Given the description of an element on the screen output the (x, y) to click on. 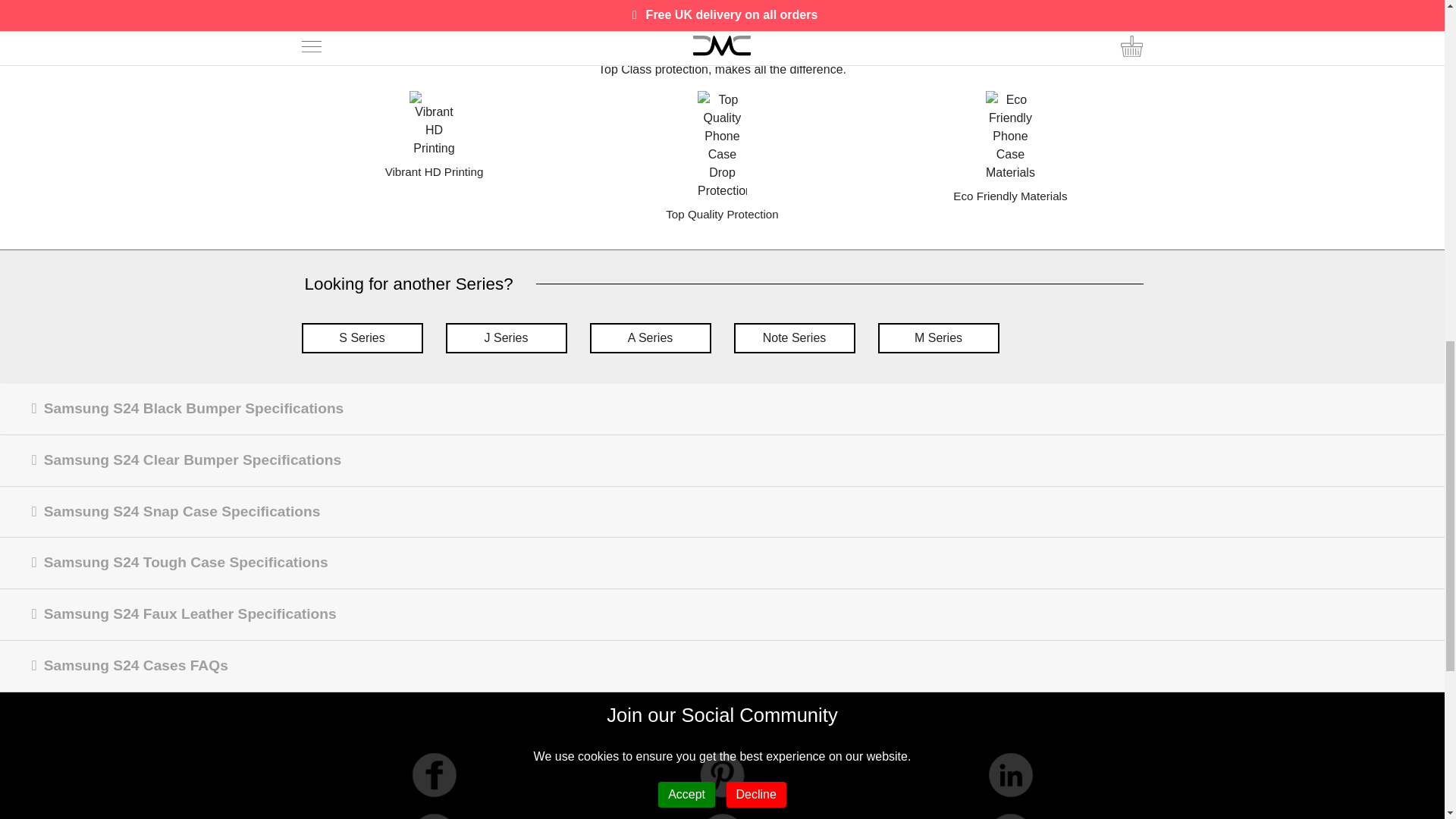
A Series (650, 337)
Share on Facebook (21, 15)
Note Series (794, 337)
S Series (362, 337)
Share on Twitter (54, 15)
J Series (506, 337)
M Series (937, 337)
